Given the description of an element on the screen output the (x, y) to click on. 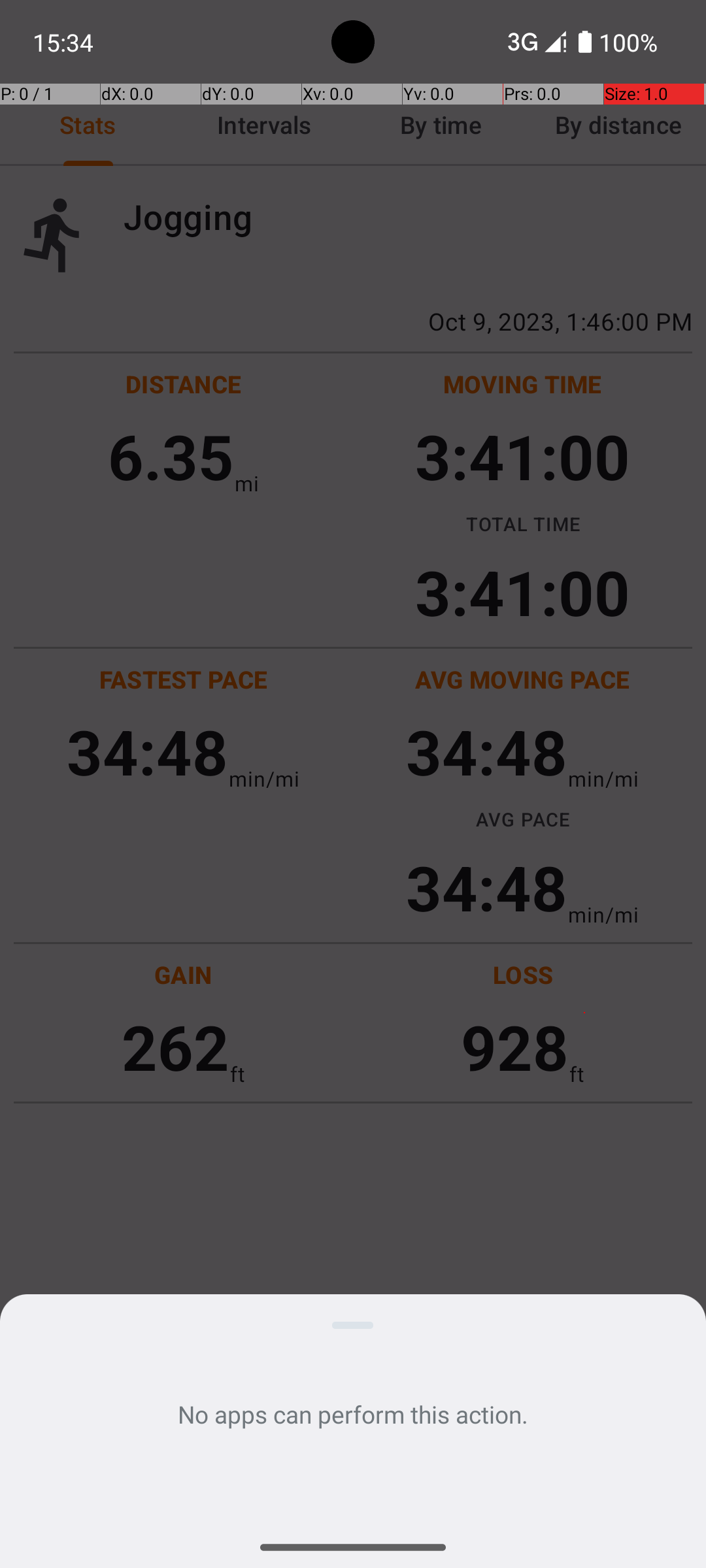
No apps can perform this action. Element type: android.widget.TextView (352, 1413)
